Given the description of an element on the screen output the (x, y) to click on. 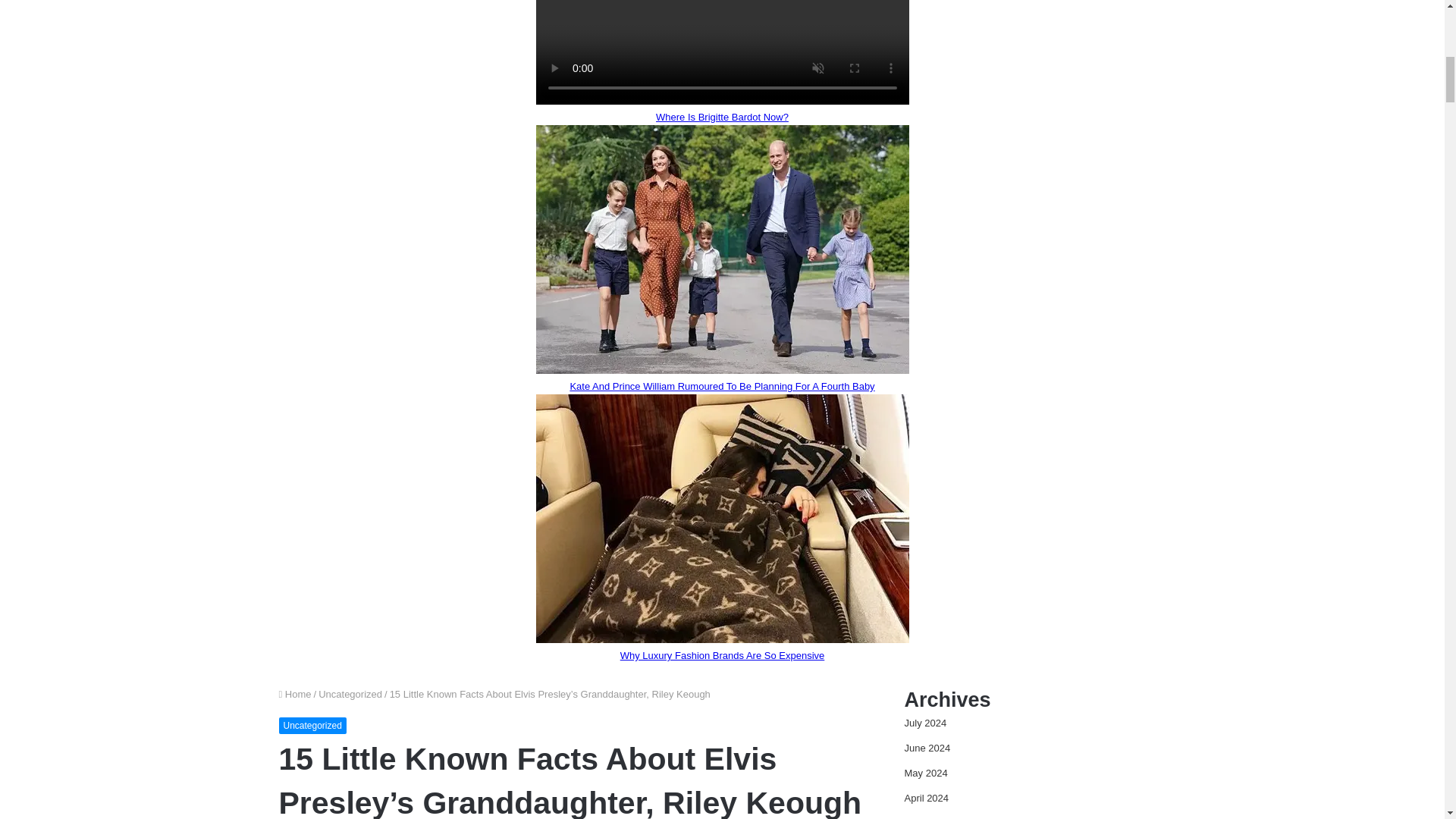
Uncategorized (349, 694)
Uncategorized (312, 725)
Home (295, 694)
